Given the description of an element on the screen output the (x, y) to click on. 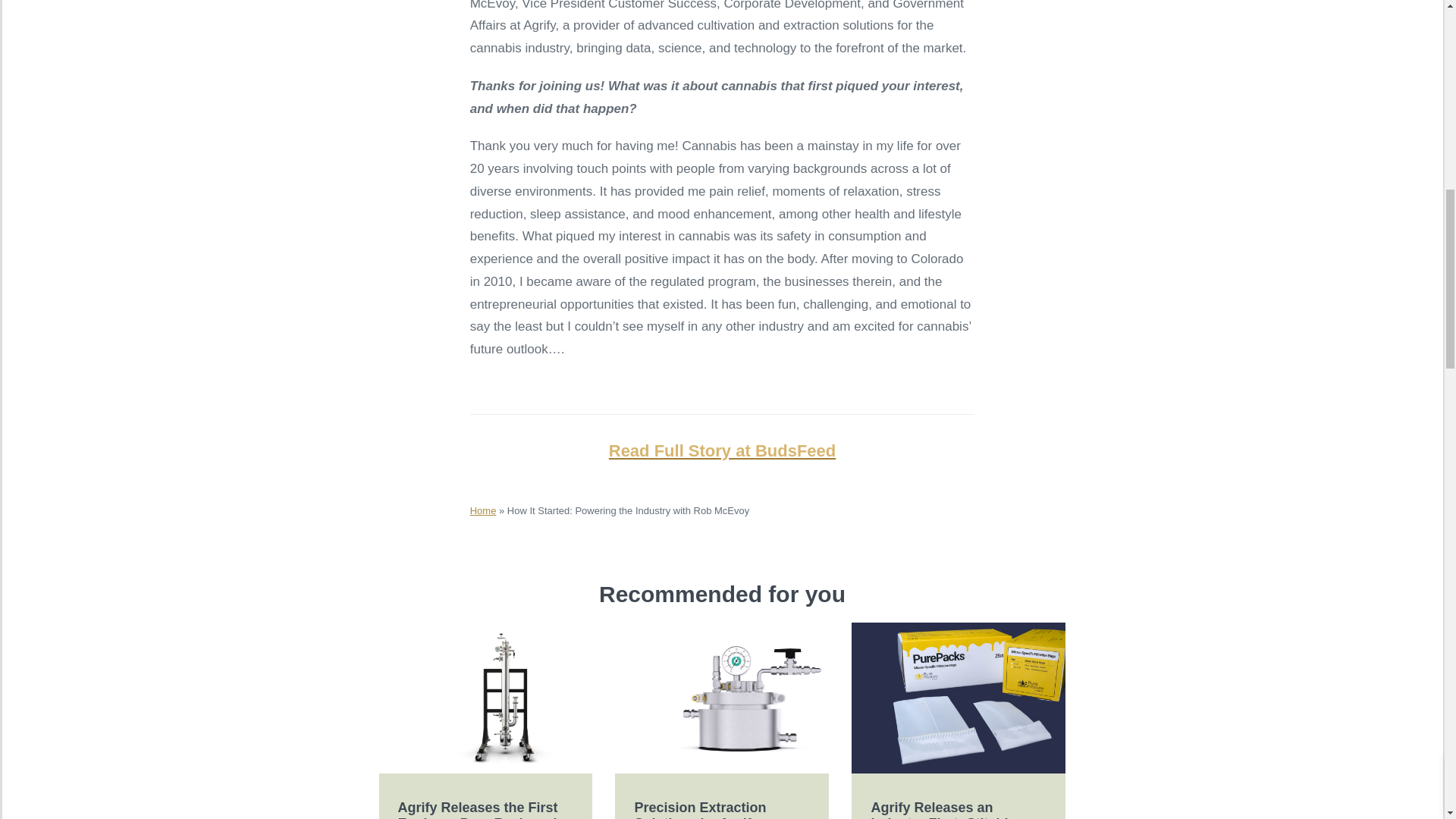
Read Full Story at BudsFeed (721, 450)
Home (483, 510)
